Given the description of an element on the screen output the (x, y) to click on. 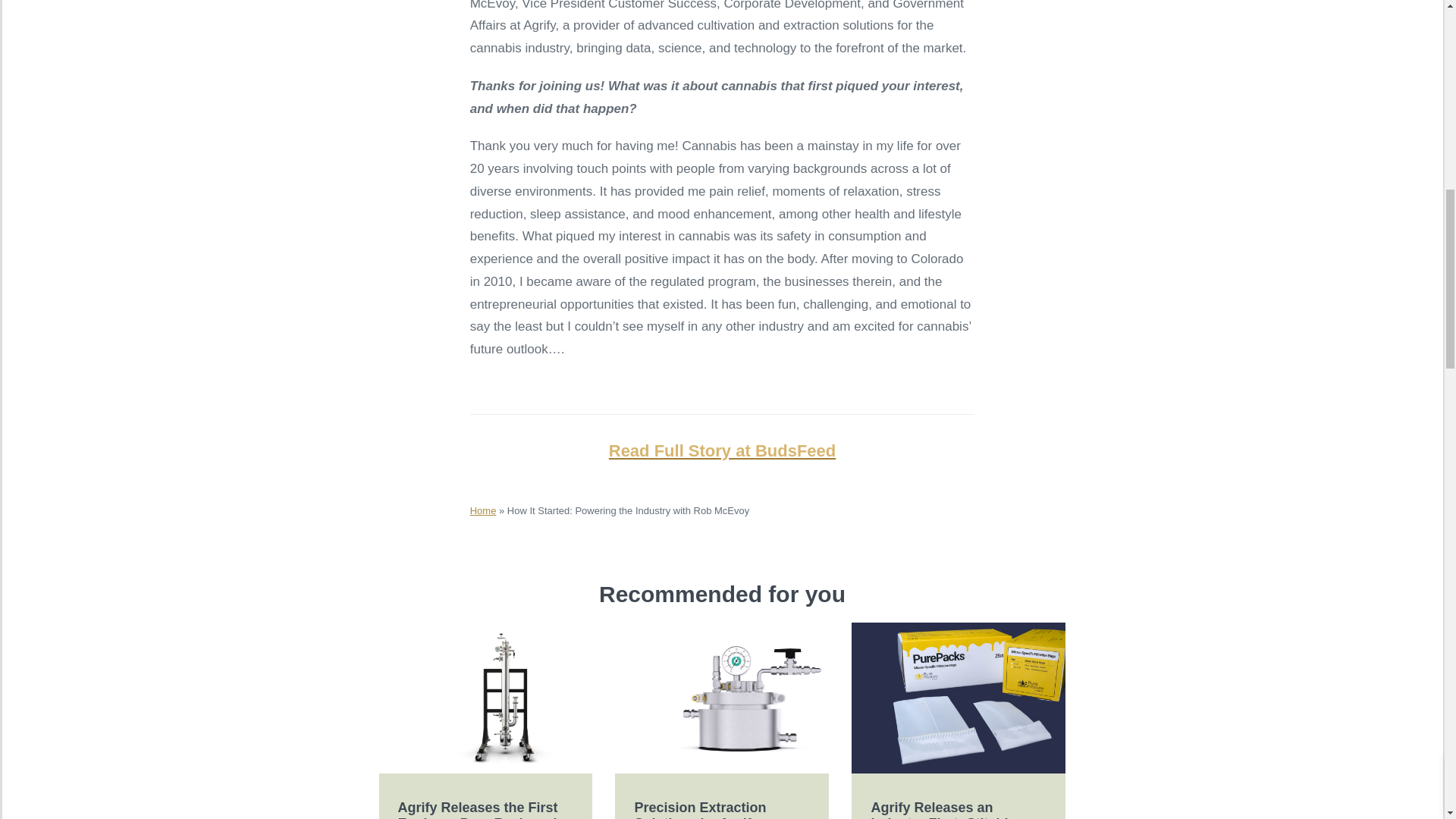
Read Full Story at BudsFeed (721, 450)
Home (483, 510)
